Given the description of an element on the screen output the (x, y) to click on. 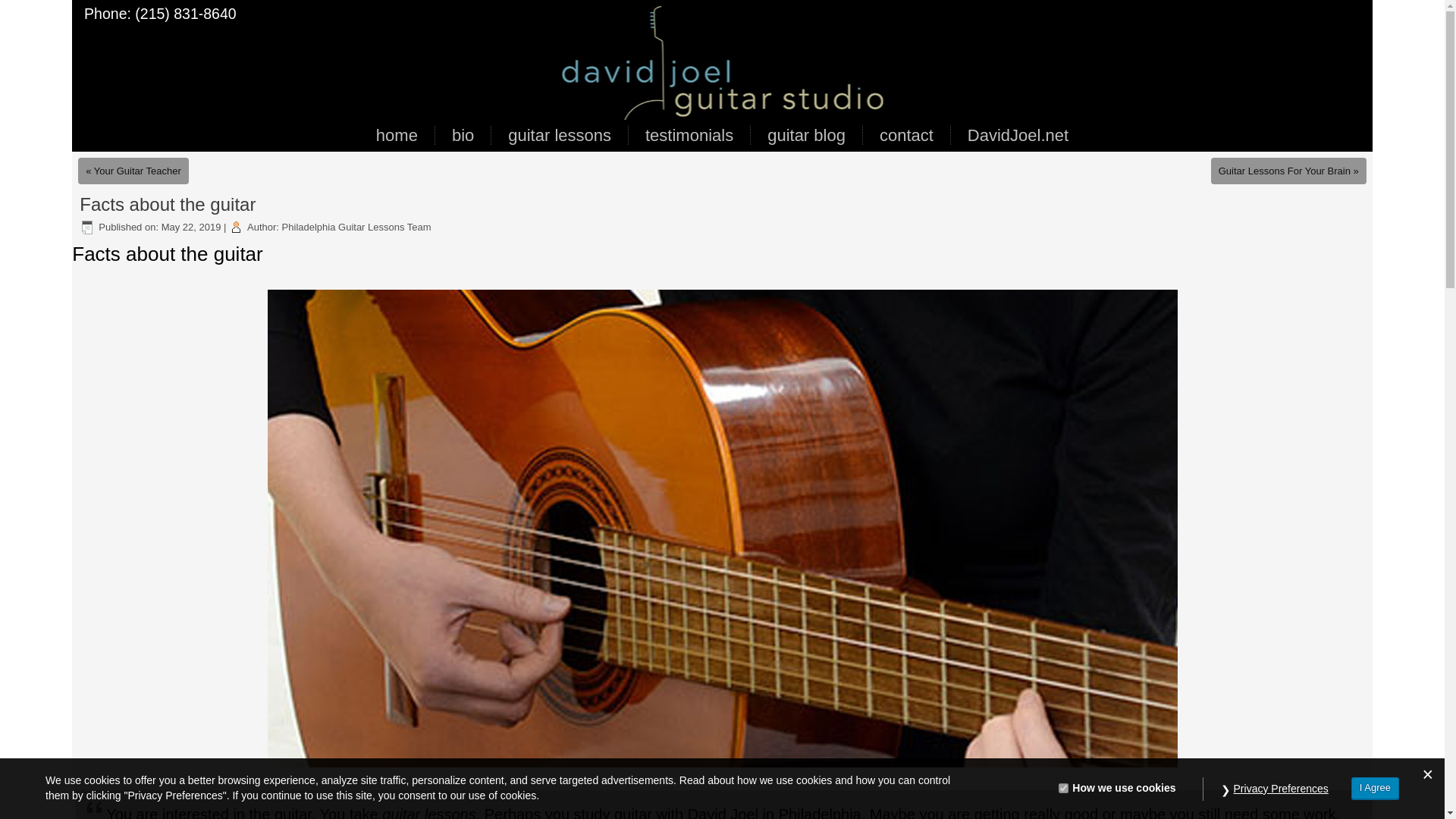
Philadelphia Guitar Lessons Team (356, 226)
testimonials (688, 135)
I Agree (1375, 788)
guitar lessons (428, 812)
home (396, 135)
contact (906, 135)
DavidJoel.net (1018, 135)
guitar lessons (559, 135)
guitar blog (806, 135)
Privacy Preferences (1280, 788)
How we use cookies (1063, 787)
View all posts by Philadelphia Guitar Lessons Team (356, 226)
bio (462, 135)
